Given the description of an element on the screen output the (x, y) to click on. 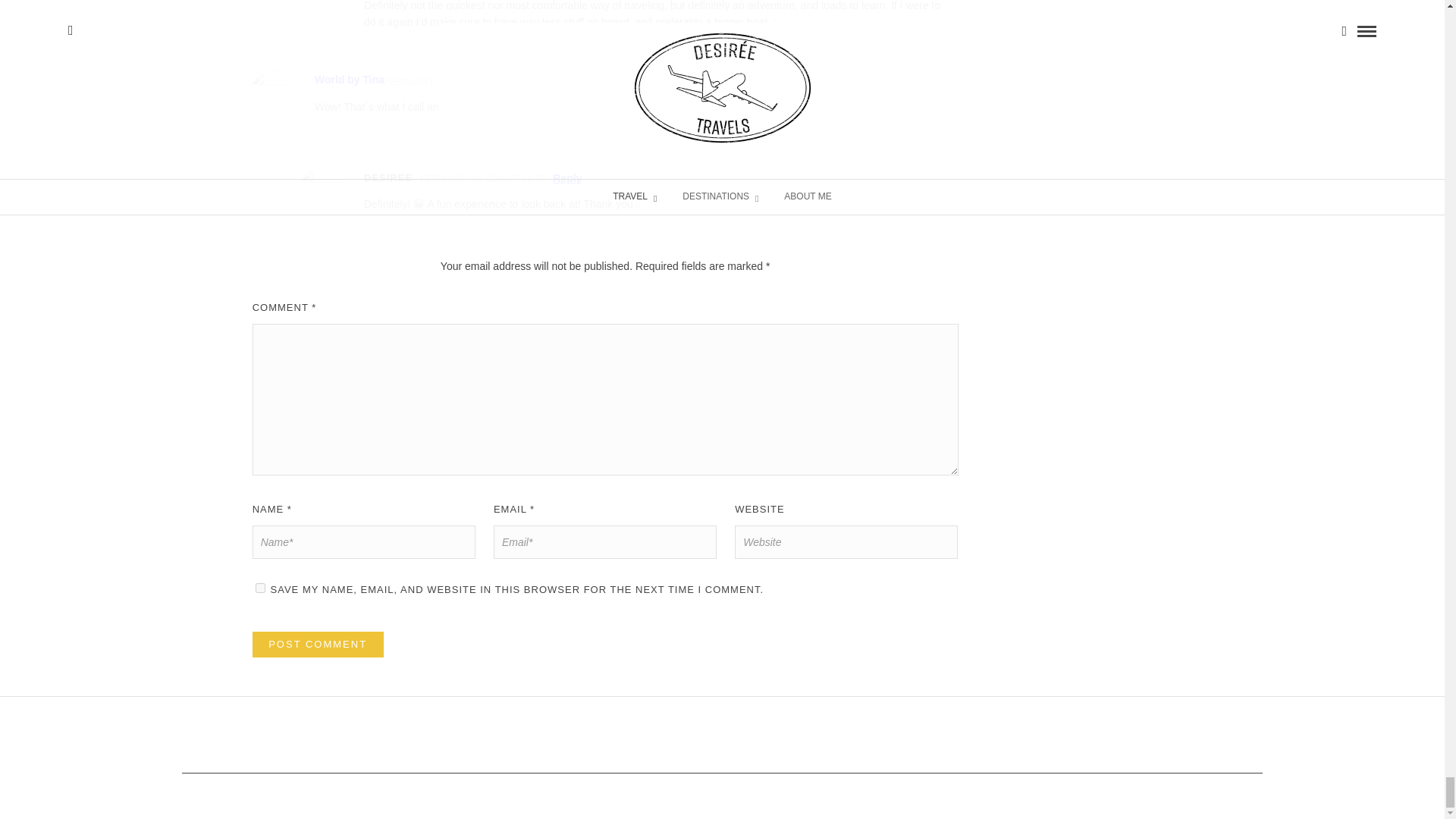
Post Comment (317, 644)
yes (260, 587)
